Given the description of an element on the screen output the (x, y) to click on. 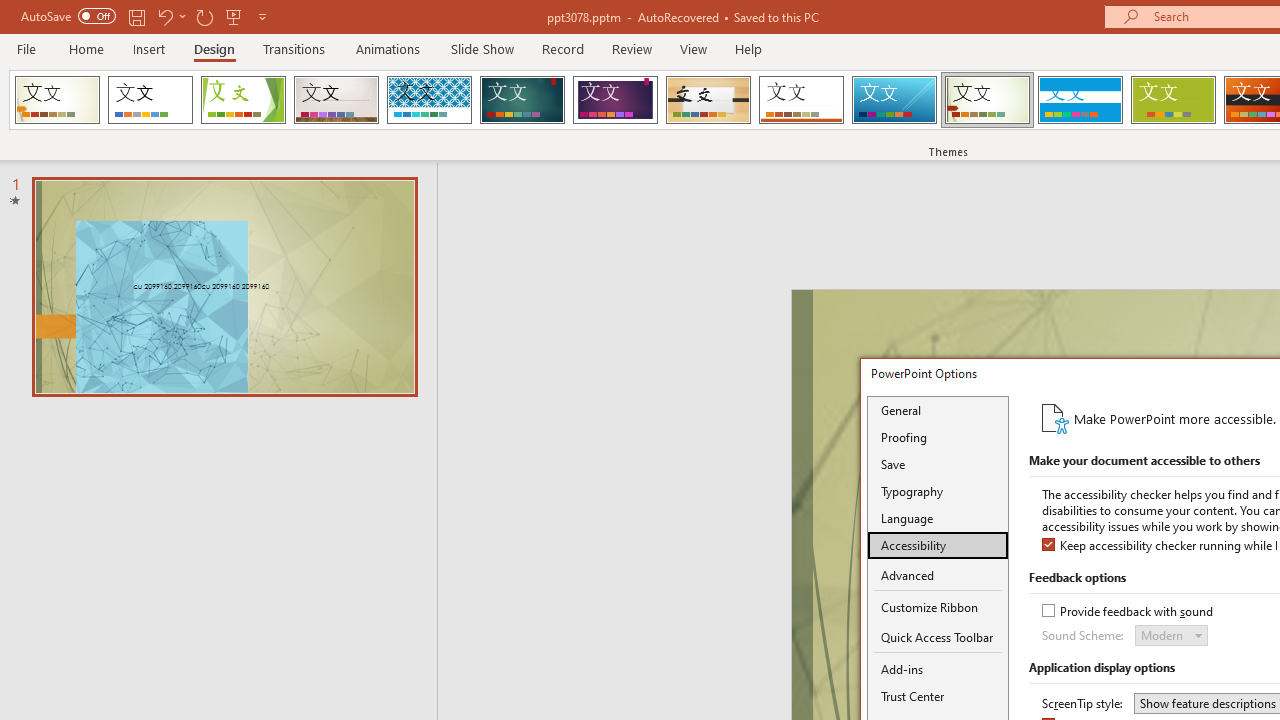
Wisp Loading Preview... (987, 100)
Trust Center (937, 696)
Slice Loading Preview... (893, 100)
Ion Boardroom Loading Preview... (615, 100)
Facet (243, 100)
Typography (937, 491)
Customize Ribbon (937, 607)
Advanced (937, 576)
